Given the description of an element on the screen output the (x, y) to click on. 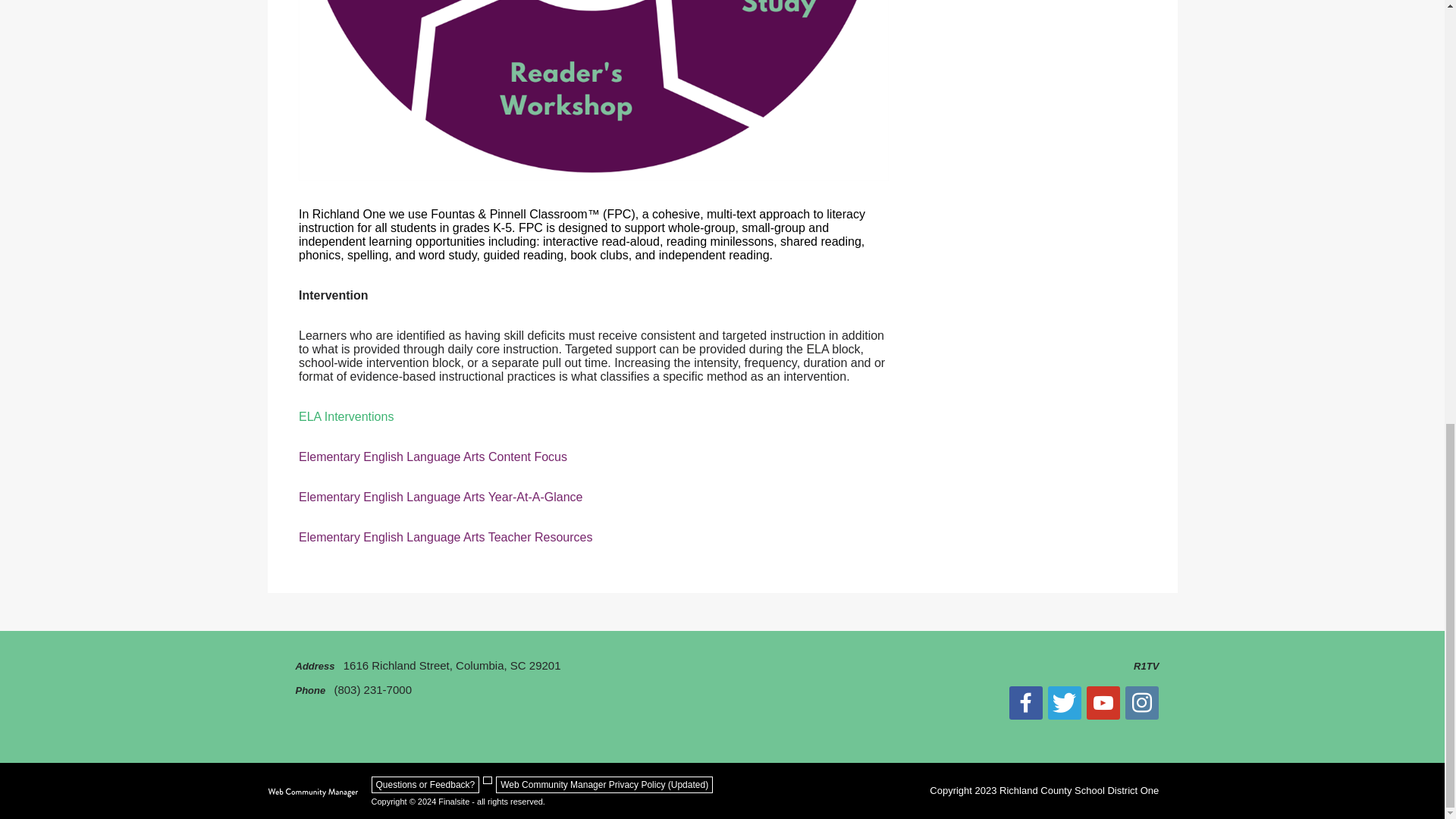
Finalsite - all rights reserved (312, 792)
